Given the description of an element on the screen output the (x, y) to click on. 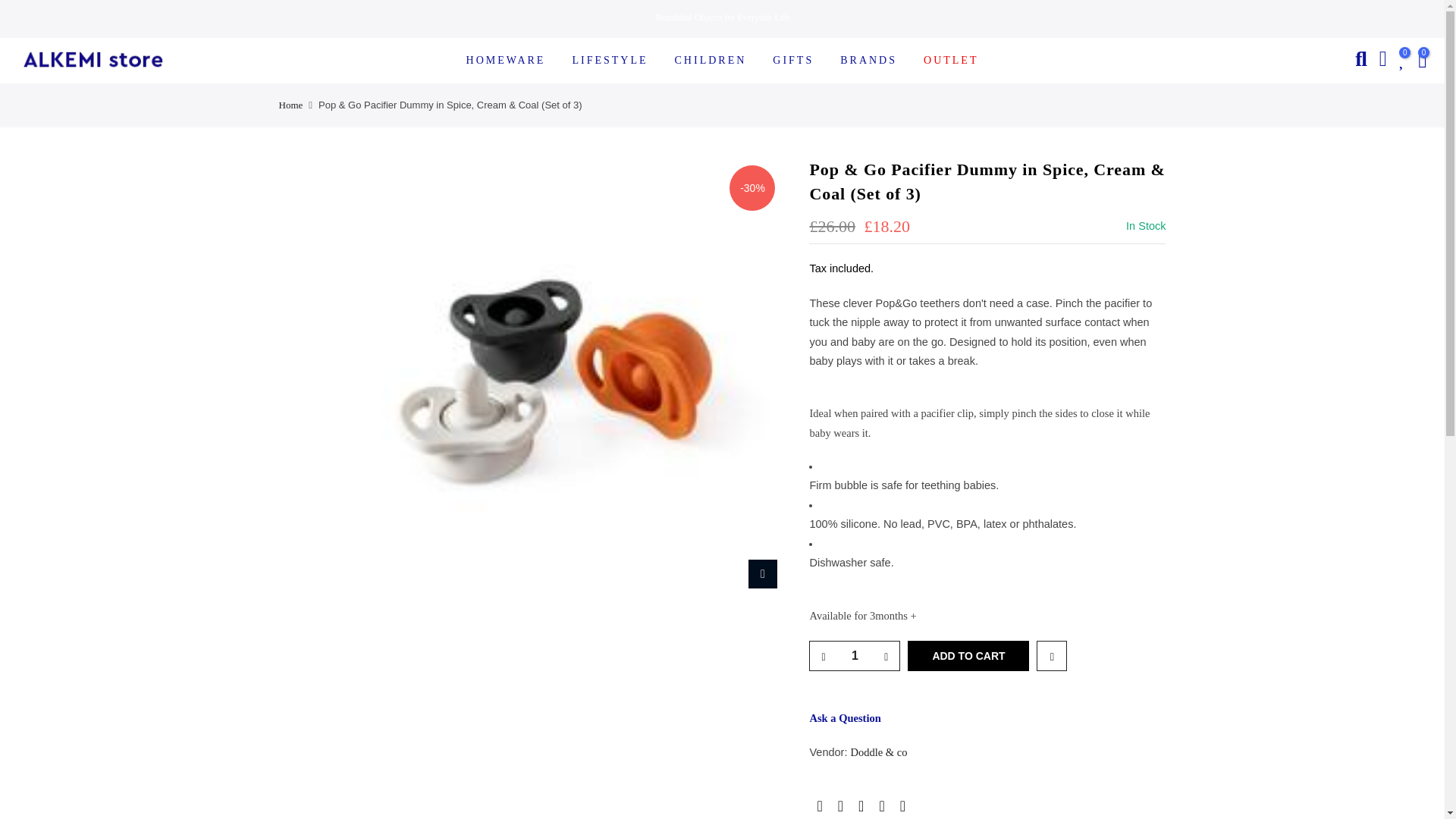
1 (854, 655)
ADD TO CART (968, 655)
Home (290, 105)
CHILDREN (710, 60)
OUTLET (951, 60)
HOMEWARE (505, 60)
LIFESTYLE (610, 60)
GIFTS (793, 60)
BRANDS (869, 60)
Ask a Question (844, 717)
